Given the description of an element on the screen output the (x, y) to click on. 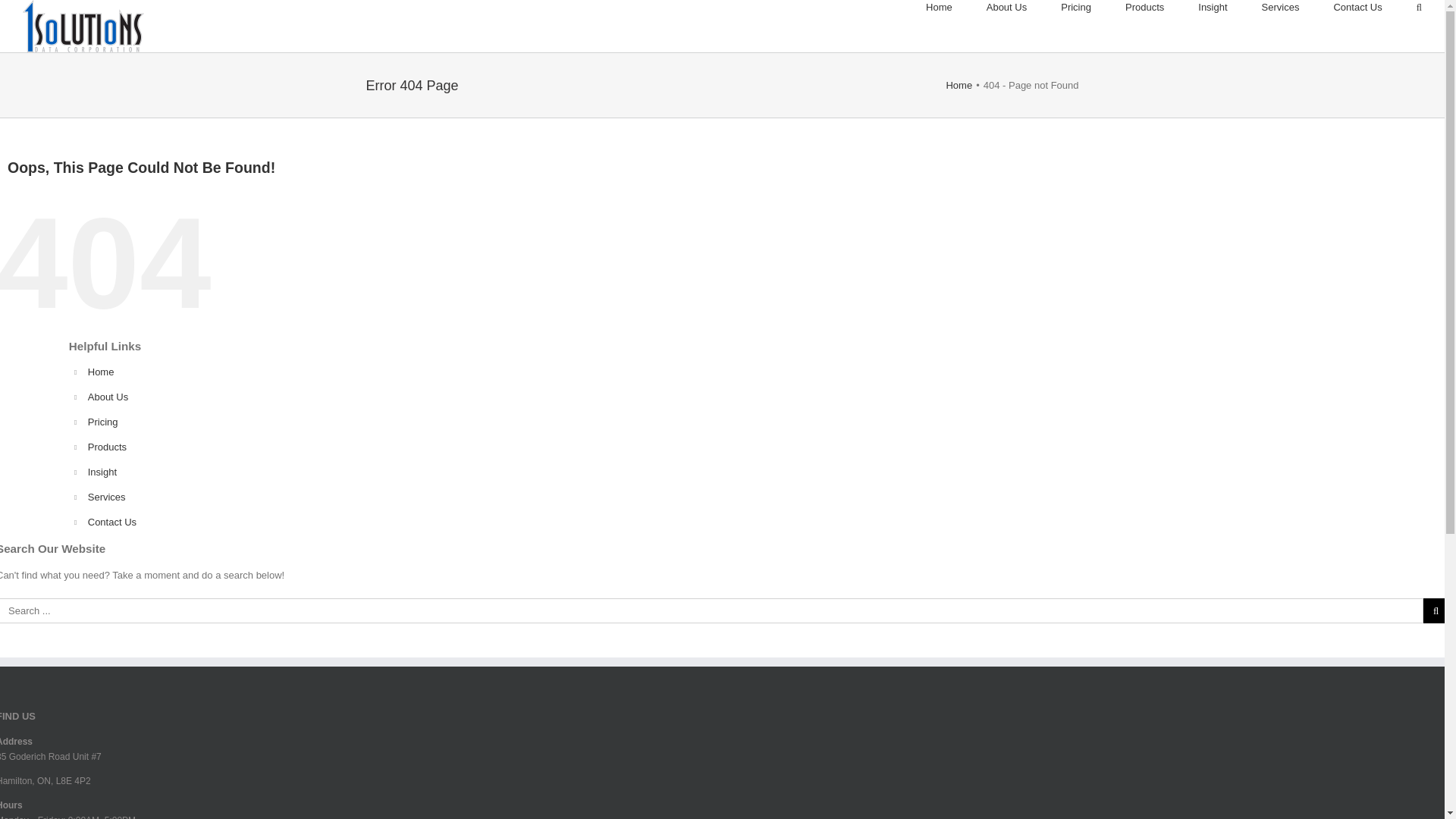
Services Element type: text (1280, 7)
About Us Element type: text (1006, 7)
Insight Element type: text (101, 471)
Pricing Element type: text (102, 421)
Services Element type: text (106, 496)
Contact Us Element type: text (1357, 7)
About Us Element type: text (107, 396)
Home Element type: text (938, 7)
Home Element type: text (100, 371)
Insight Element type: text (1212, 7)
Home Element type: text (958, 84)
Contact Us Element type: text (111, 521)
Products Element type: text (106, 446)
Search Element type: hover (1418, 7)
Products Element type: text (1144, 7)
Pricing Element type: text (1075, 7)
